Given the description of an element on the screen output the (x, y) to click on. 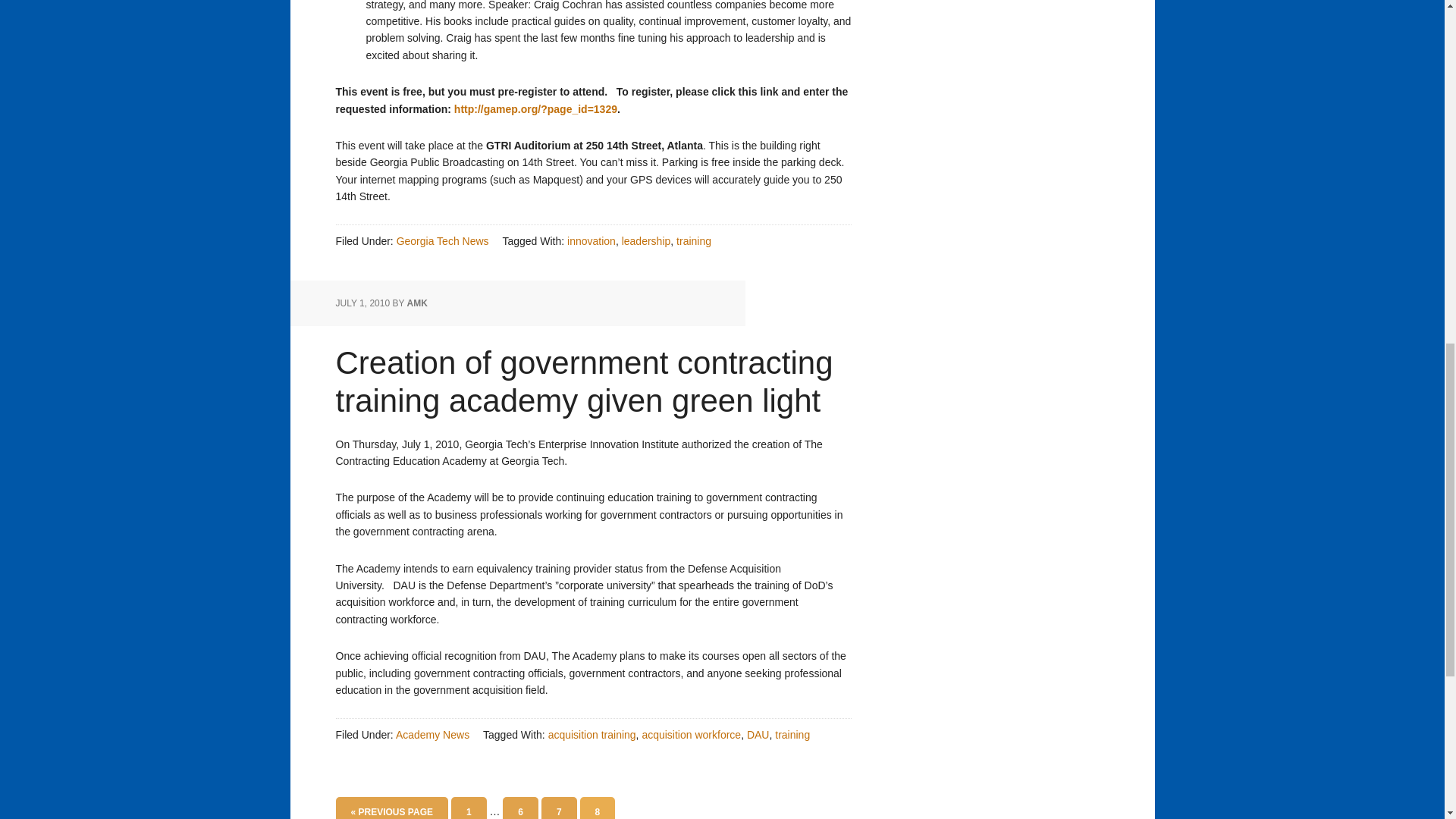
AMK (417, 303)
acquisition workforce (691, 734)
1 (468, 807)
DAU (758, 734)
8 (596, 807)
7 (558, 807)
Georgia Tech News (442, 241)
training (791, 734)
acquisition training (592, 734)
Academy News (432, 734)
innovation (591, 241)
leadership (646, 241)
6 (520, 807)
training (694, 241)
